Given the description of an element on the screen output the (x, y) to click on. 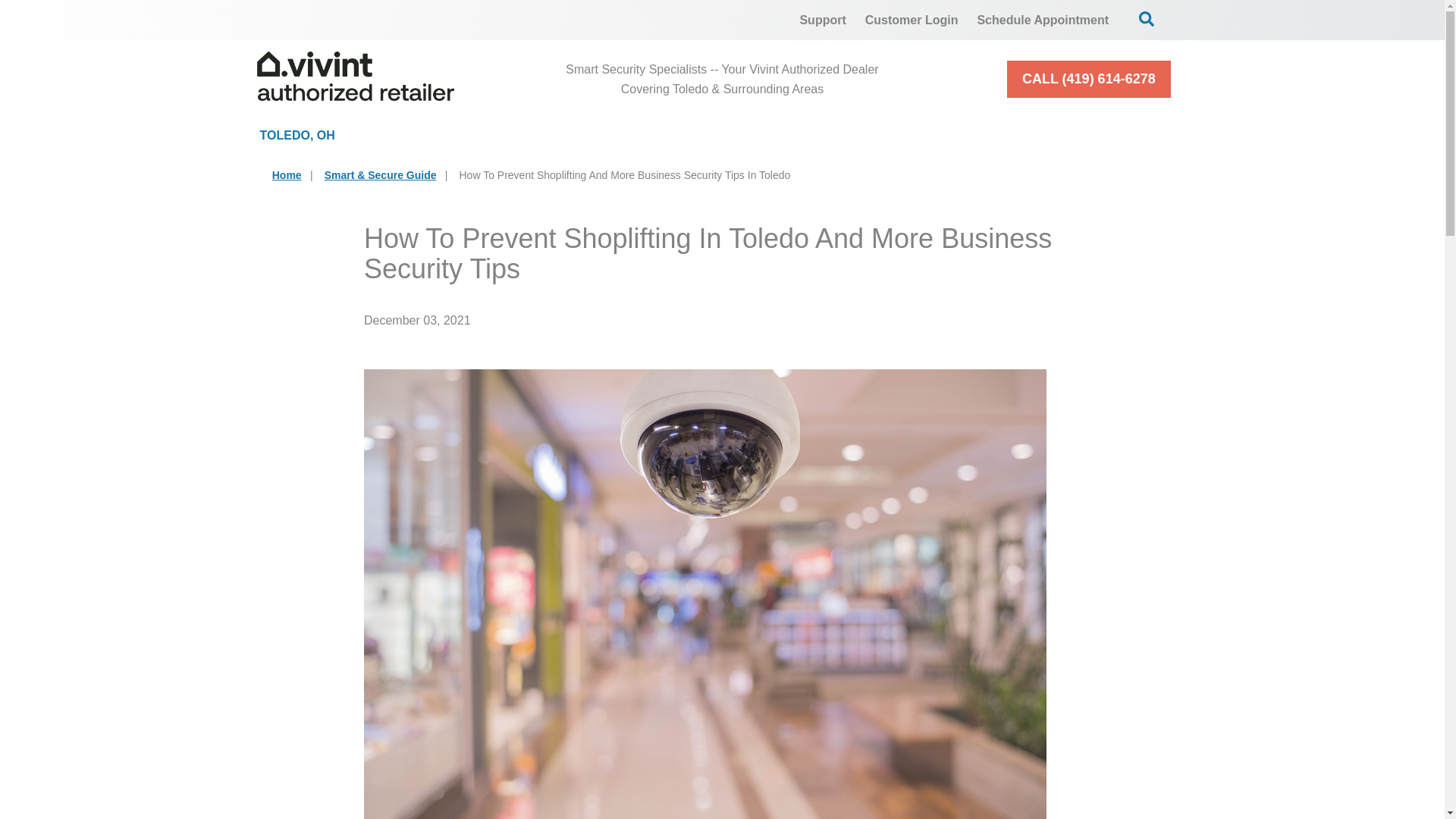
Open Search (1146, 18)
Home (286, 174)
Home Security (478, 135)
Expand Menu (939, 135)
Expand Menu (689, 135)
Cameras (655, 135)
Schedule Appointment (1042, 20)
Support (822, 20)
Smart Home Automation (861, 135)
Expand Menu (528, 135)
Customer Login (911, 20)
